Given the description of an element on the screen output the (x, y) to click on. 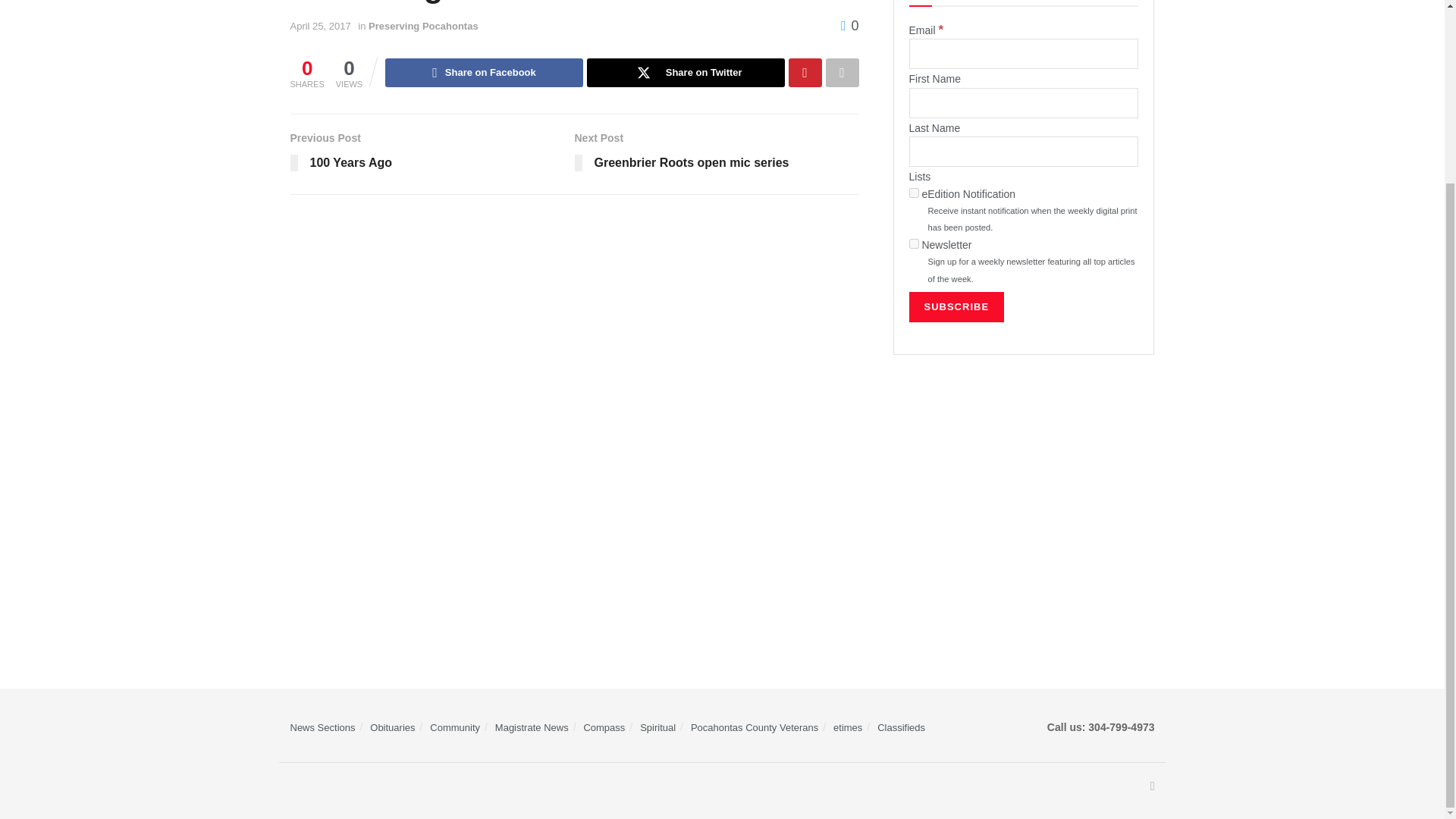
Subscribe (956, 306)
April 25, 2017 (319, 25)
Preserving Pocahontas (423, 25)
2 (913, 243)
Advertisement (1023, 490)
1 (913, 193)
